Given the description of an element on the screen output the (x, y) to click on. 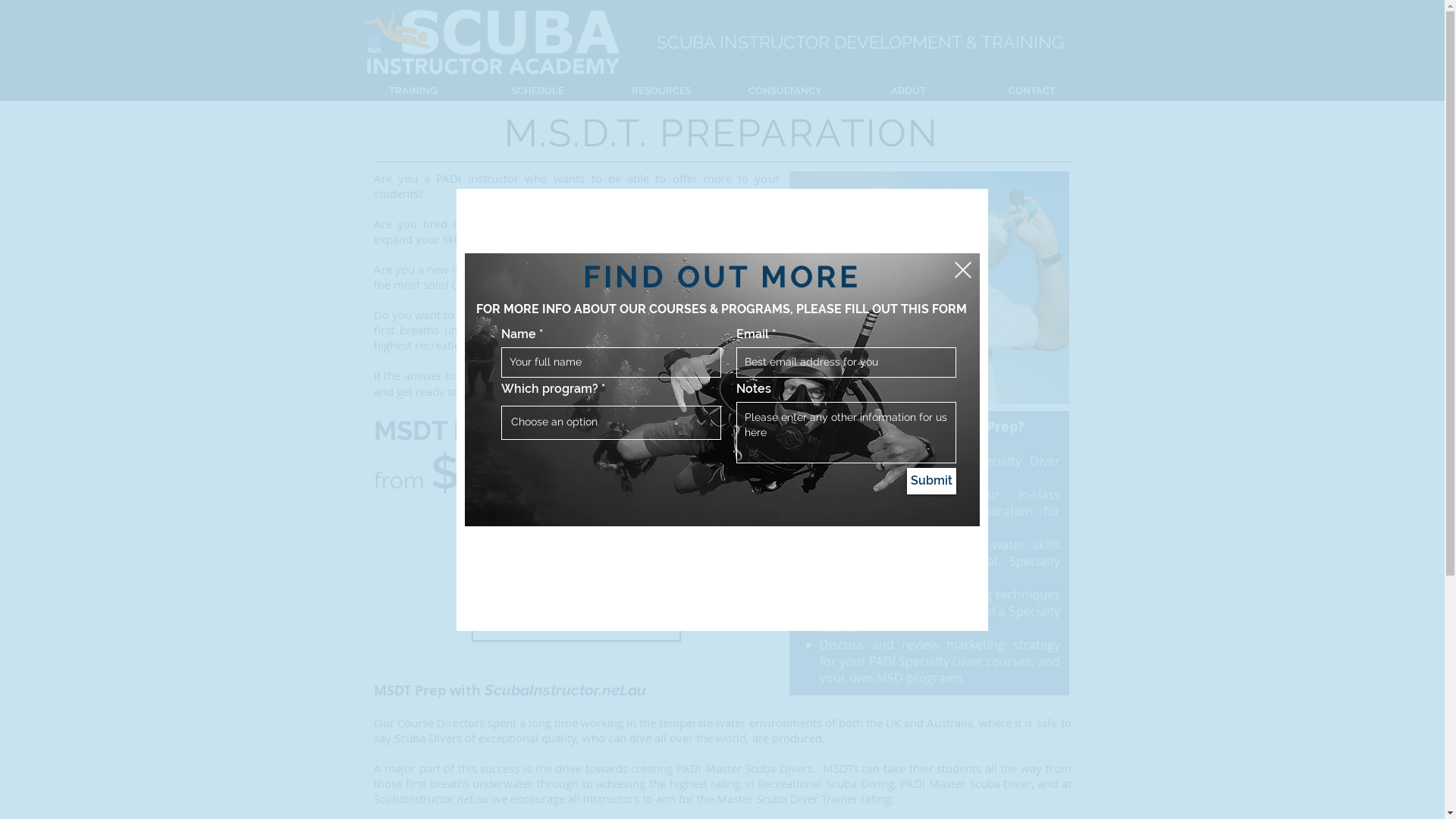
Back to site Element type: hover (962, 268)
REQUEST MORE INFO. Element type: text (575, 578)
Skater's Horizon Element type: hover (721, 389)
SIGN UP NOW Element type: text (575, 626)
CONTACT Element type: text (1032, 90)
CONSULTANCY Element type: text (785, 90)
VIEW UPCOMING COURSES Element type: text (575, 530)
RESOURCES Element type: text (660, 90)
SCHEDULE Element type: text (536, 90)
Submit Element type: text (931, 480)
